Given the description of an element on the screen output the (x, y) to click on. 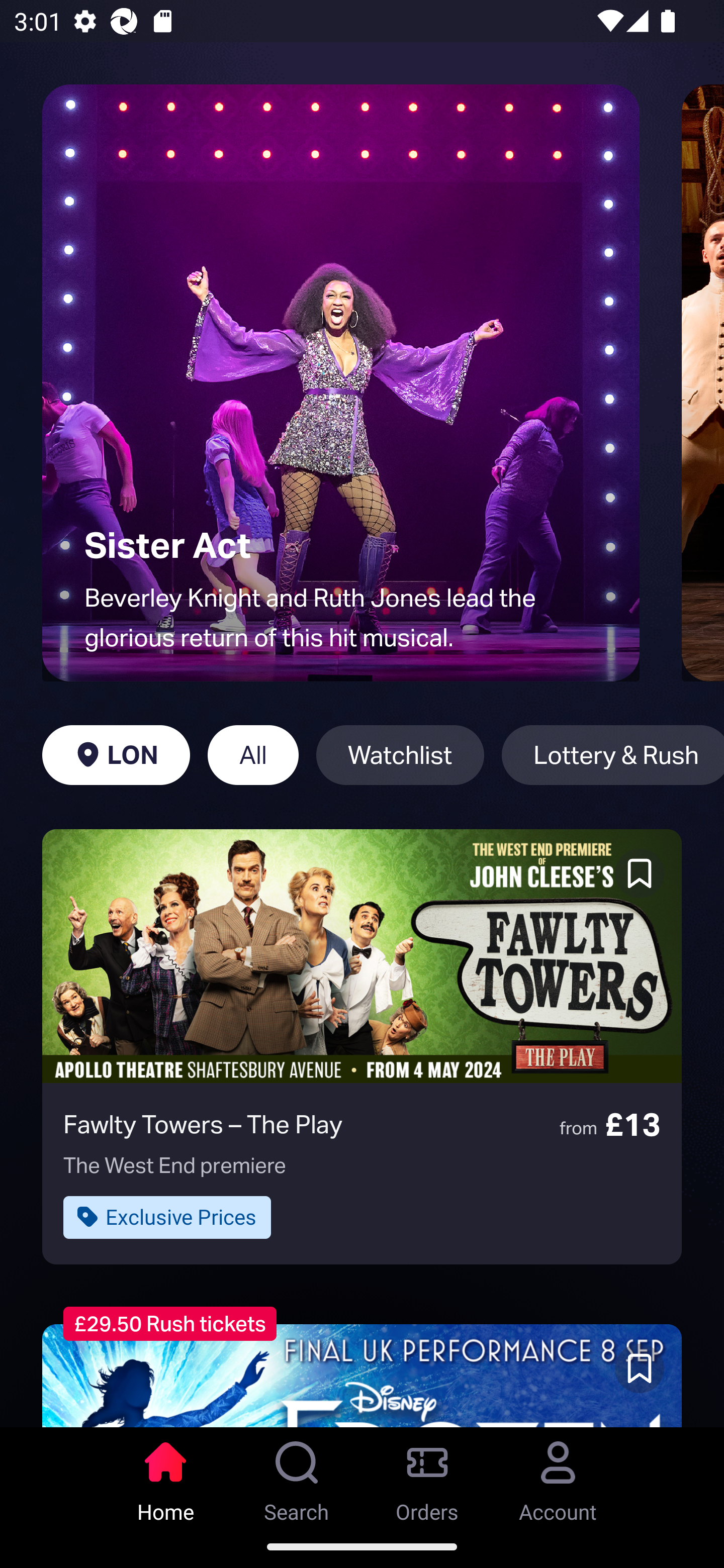
LON (115, 754)
All (252, 754)
Watchlist (400, 754)
Lottery & Rush (612, 754)
Search (296, 1475)
Orders (427, 1475)
Account (558, 1475)
